Given the description of an element on the screen output the (x, y) to click on. 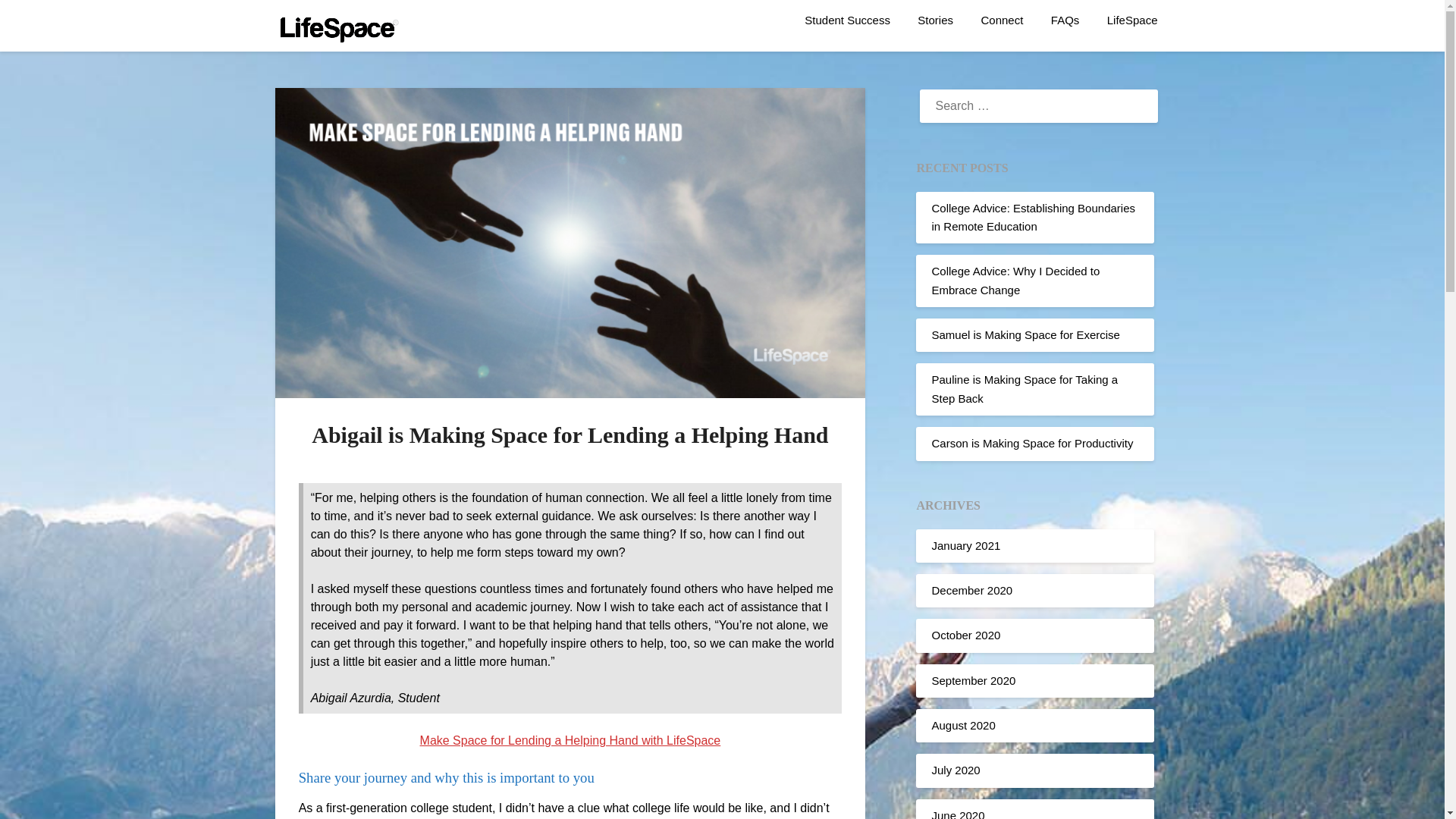
September 2020 (972, 680)
Carson is Making Space for Productivity (1031, 442)
Stories (935, 20)
Samuel is Making Space for Exercise (1025, 334)
Pauline is Making Space for Taking a Step Back (1024, 388)
July 2020 (955, 769)
FAQs (1065, 20)
Connect (1001, 20)
Search (38, 22)
Make Space for Lending a Helping Hand with LifeSpace (570, 739)
